Given the description of an element on the screen output the (x, y) to click on. 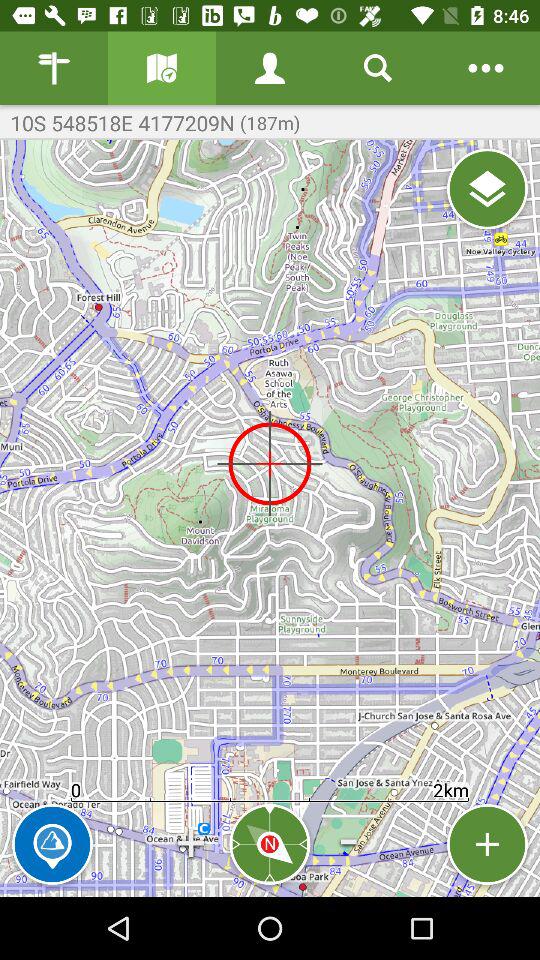
search button (378, 68)
